Given the description of an element on the screen output the (x, y) to click on. 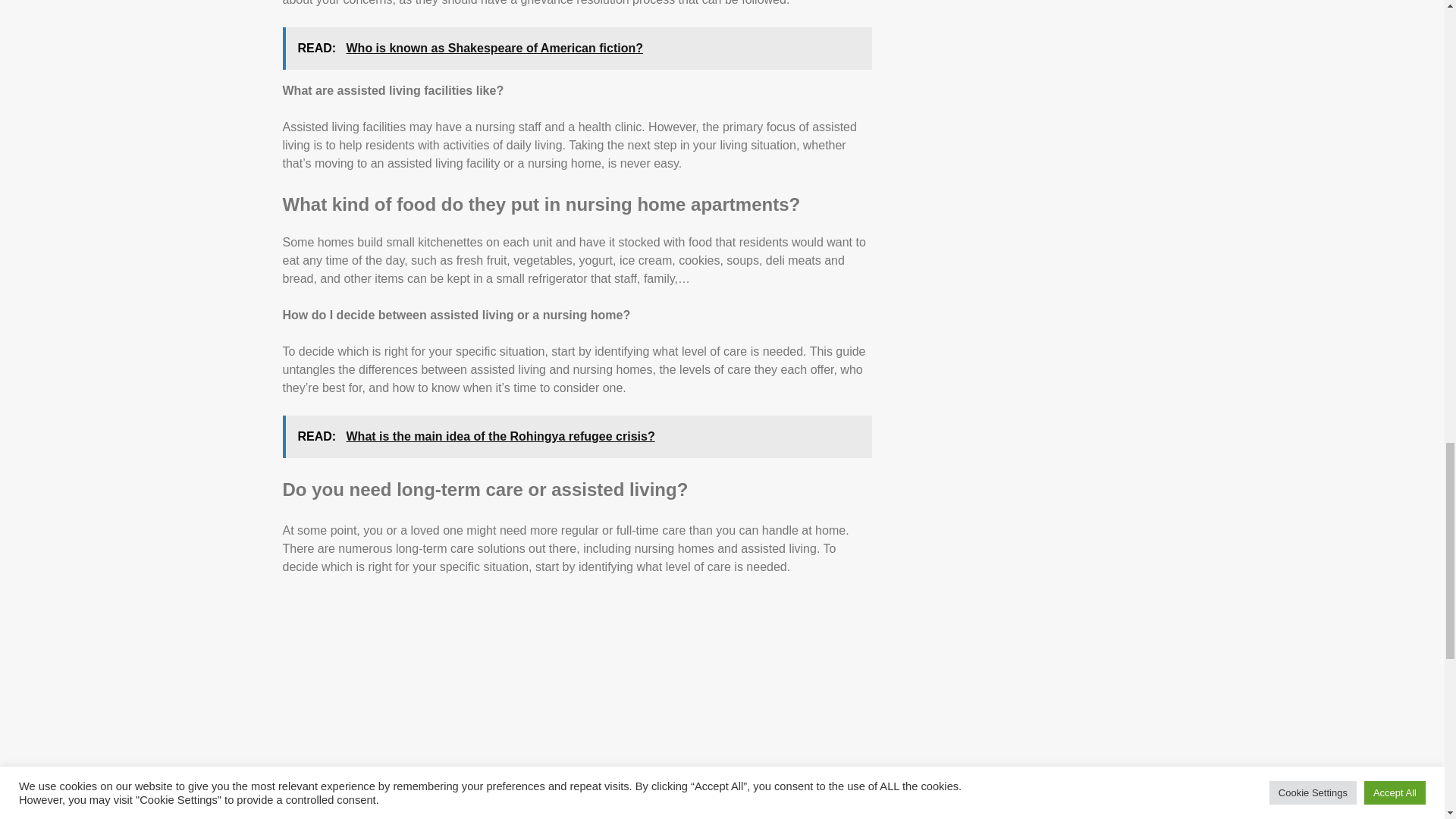
READ:   Who is known as Shakespeare of American fiction? (576, 48)
Want to work in aged care? Watch this! (576, 706)
